Given the description of an element on the screen output the (x, y) to click on. 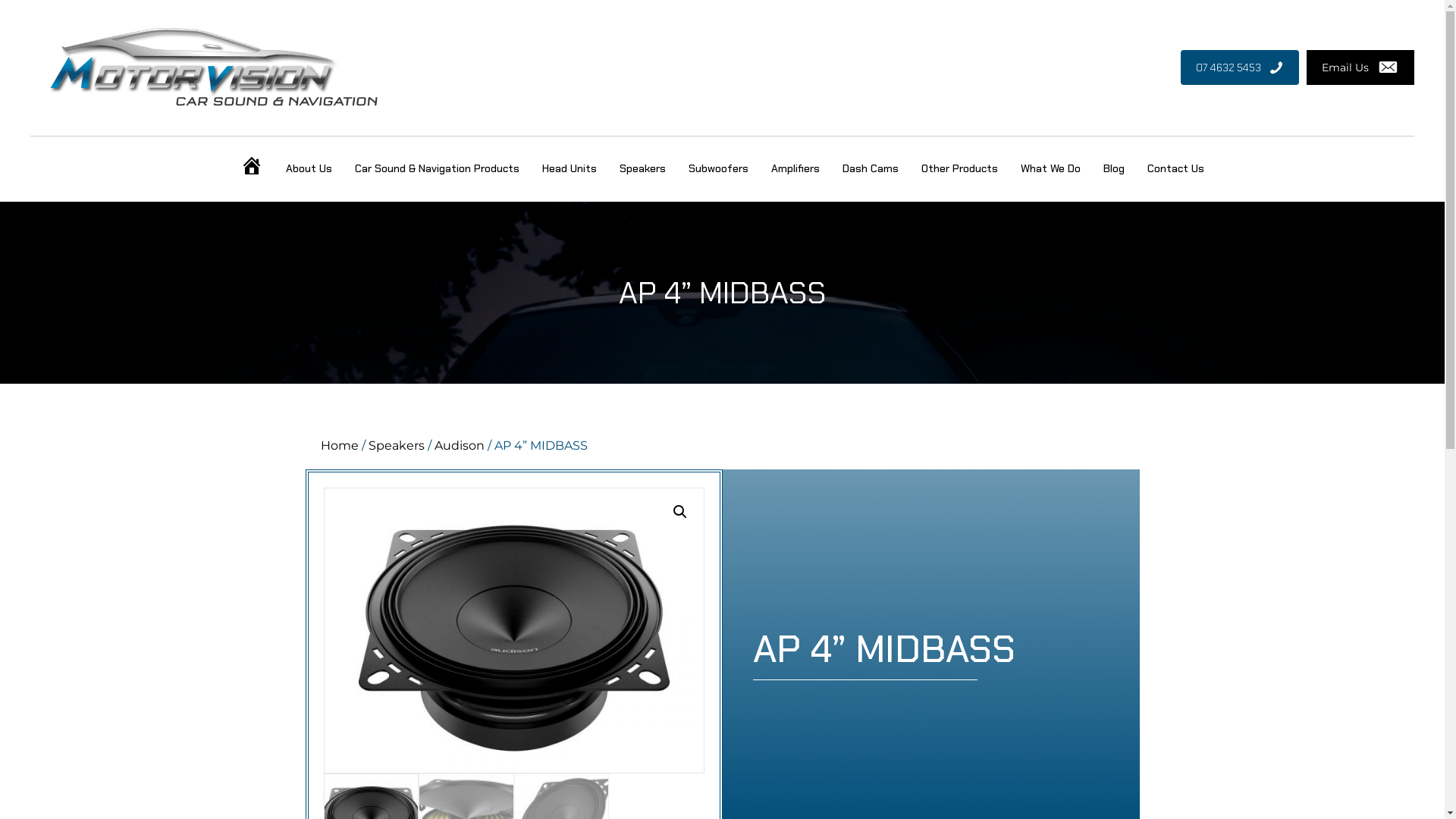
Subwoofers Element type: text (718, 168)
Audison Element type: text (458, 445)
About Us Element type: text (308, 168)
Blog Element type: text (1113, 168)
Email Us Element type: text (1360, 67)
Speakers Element type: text (396, 445)
Amplifiers Element type: text (795, 168)
Home Element type: text (338, 445)
Car Sound & Navigation Products Element type: text (437, 168)
Head Units Element type: text (569, 168)
Motor-Vision-Logo-Reveal Element type: hover (214, 67)
07 4632 5453 Element type: text (1239, 67)
Speakers Element type: text (642, 168)
What We Do Element type: text (1050, 168)
1389192744_AP-4-PROSP_def_800_600 Element type: hover (513, 630)
Contact Us Element type: text (1175, 168)
Other Products Element type: text (959, 168)
Dash Cams Element type: text (870, 168)
